Given the description of an element on the screen output the (x, y) to click on. 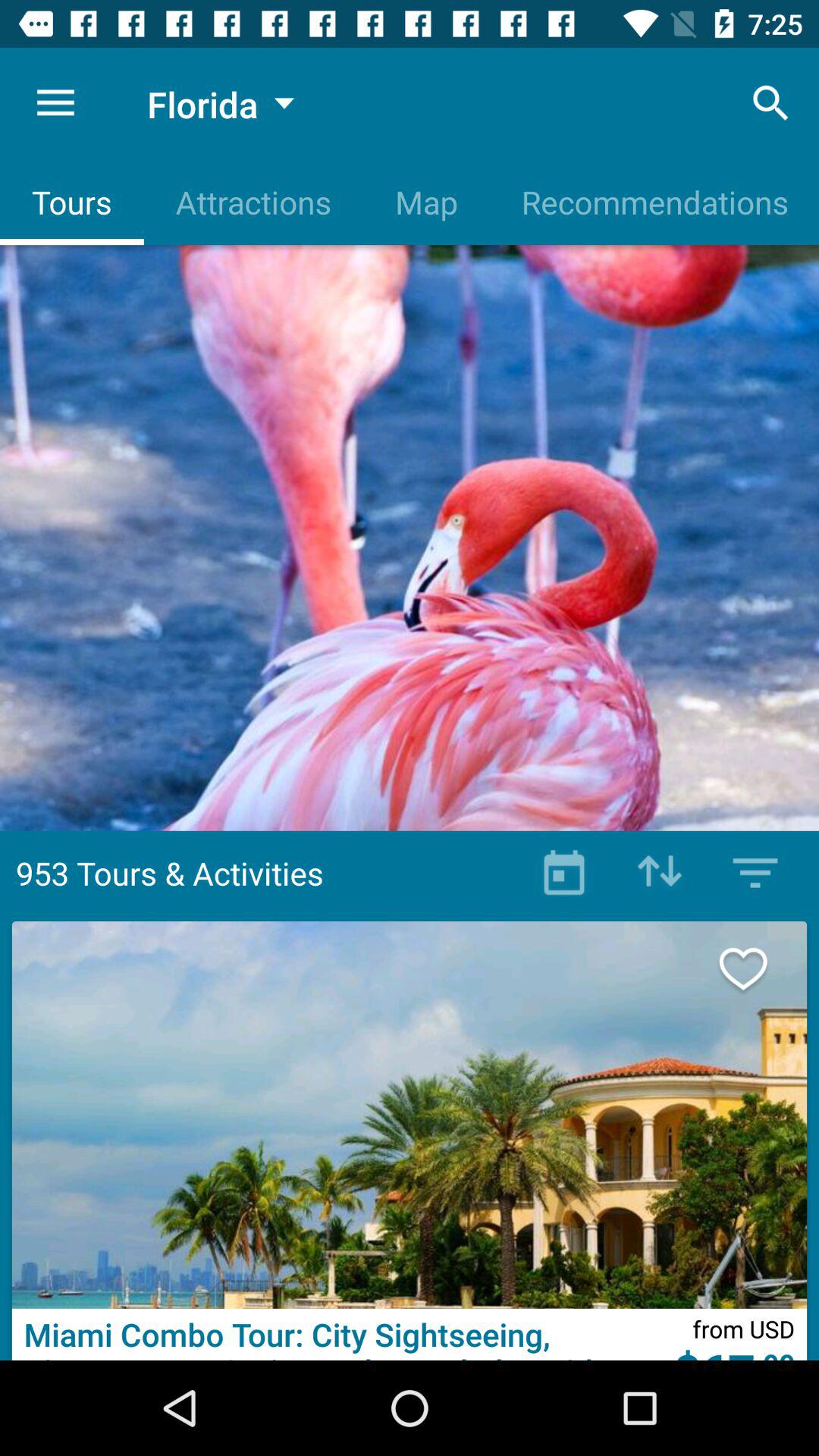
it 's purple arrow pointing to the left (659, 872)
